Given the description of an element on the screen output the (x, y) to click on. 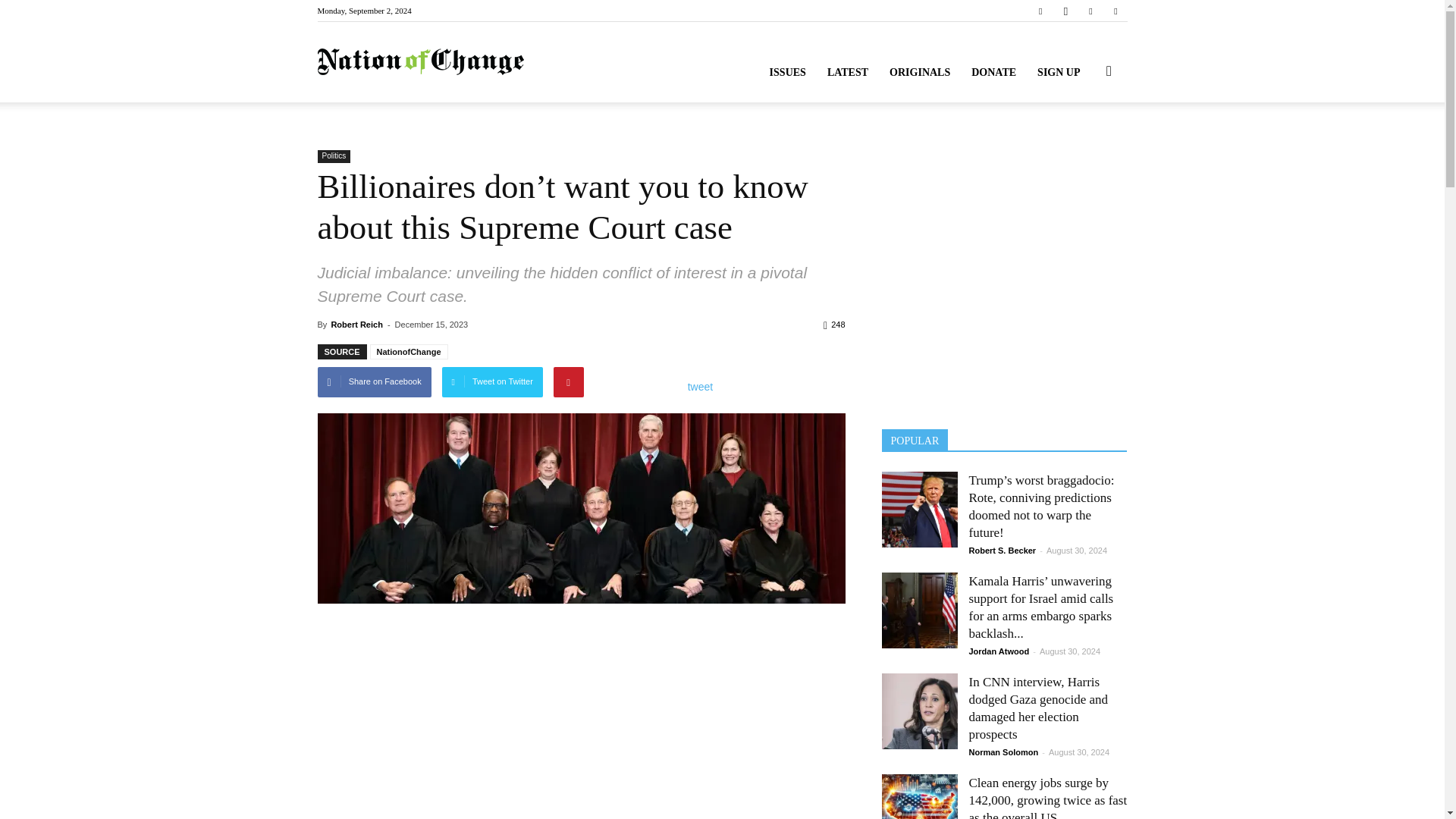
NationofChange (419, 61)
Facebook (1040, 10)
Youtube (1114, 10)
ISSUES (787, 72)
Instagram (1065, 10)
Twitter (1090, 10)
